Given the description of an element on the screen output the (x, y) to click on. 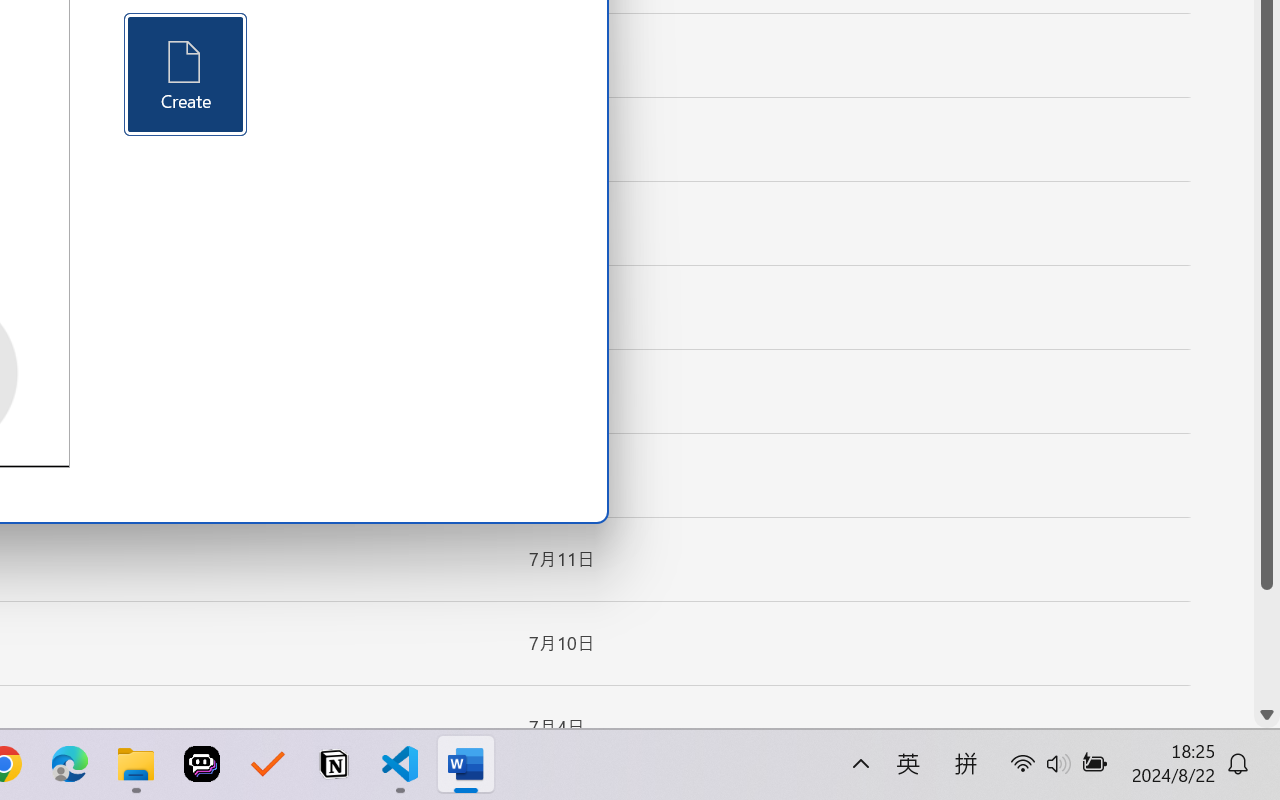
Create (185, 74)
